Given the description of an element on the screen output the (x, y) to click on. 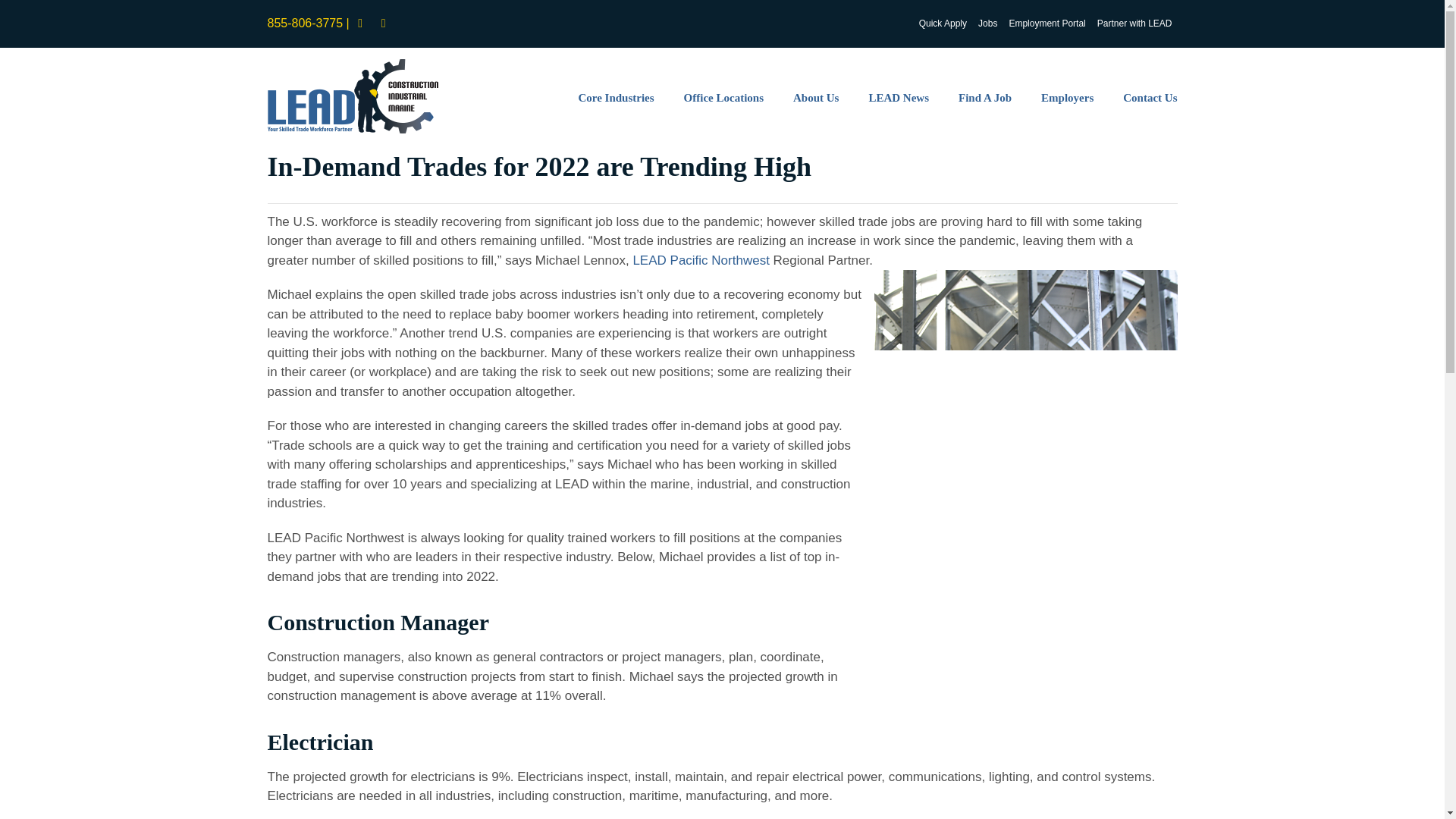
Partner with LEAD (1134, 22)
Quick Apply (943, 22)
Employment Portal (1046, 22)
855-806-3775 (304, 22)
